Given the description of an element on the screen output the (x, y) to click on. 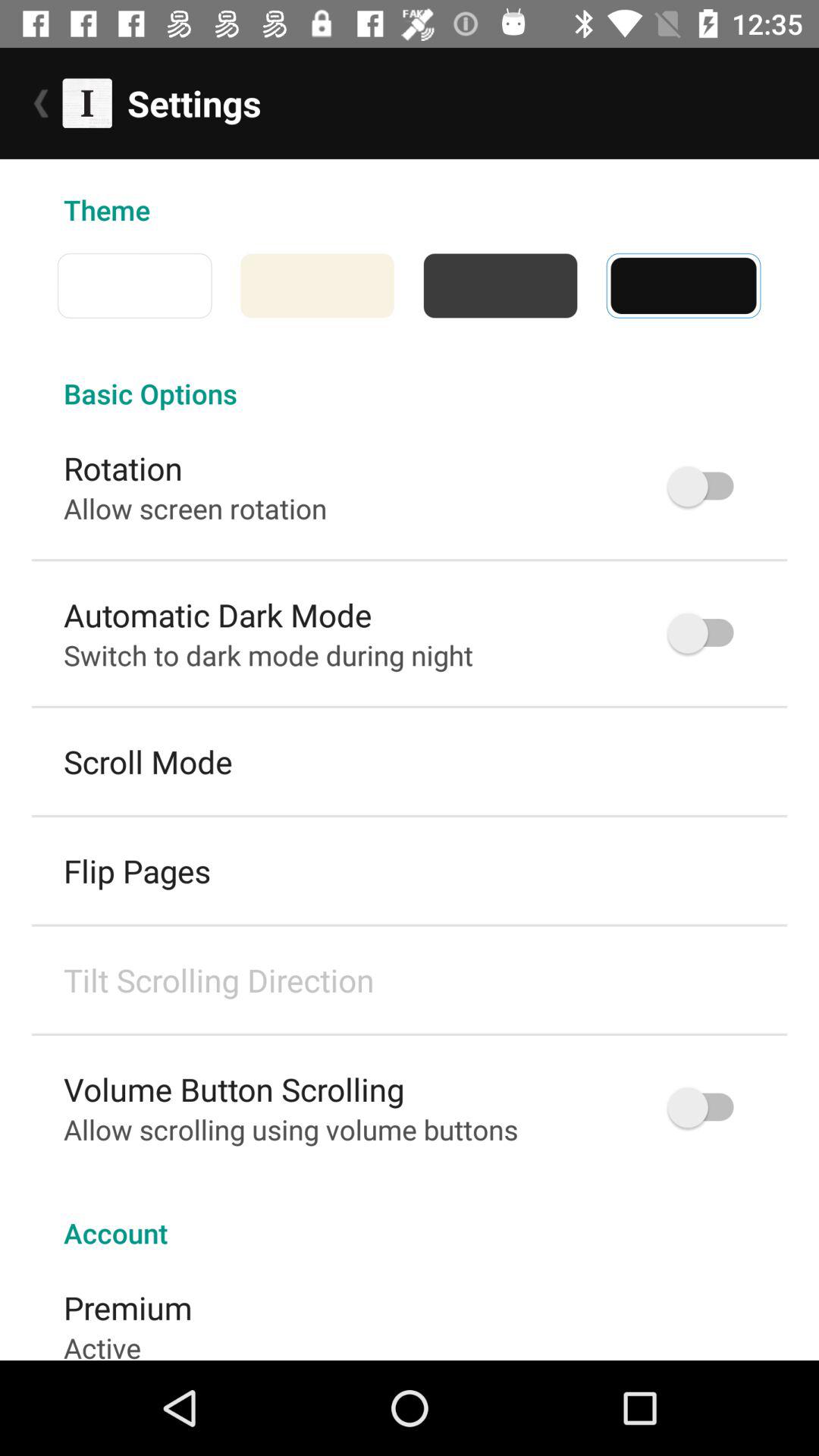
scroll until the allow scrolling using item (290, 1129)
